Given the description of an element on the screen output the (x, y) to click on. 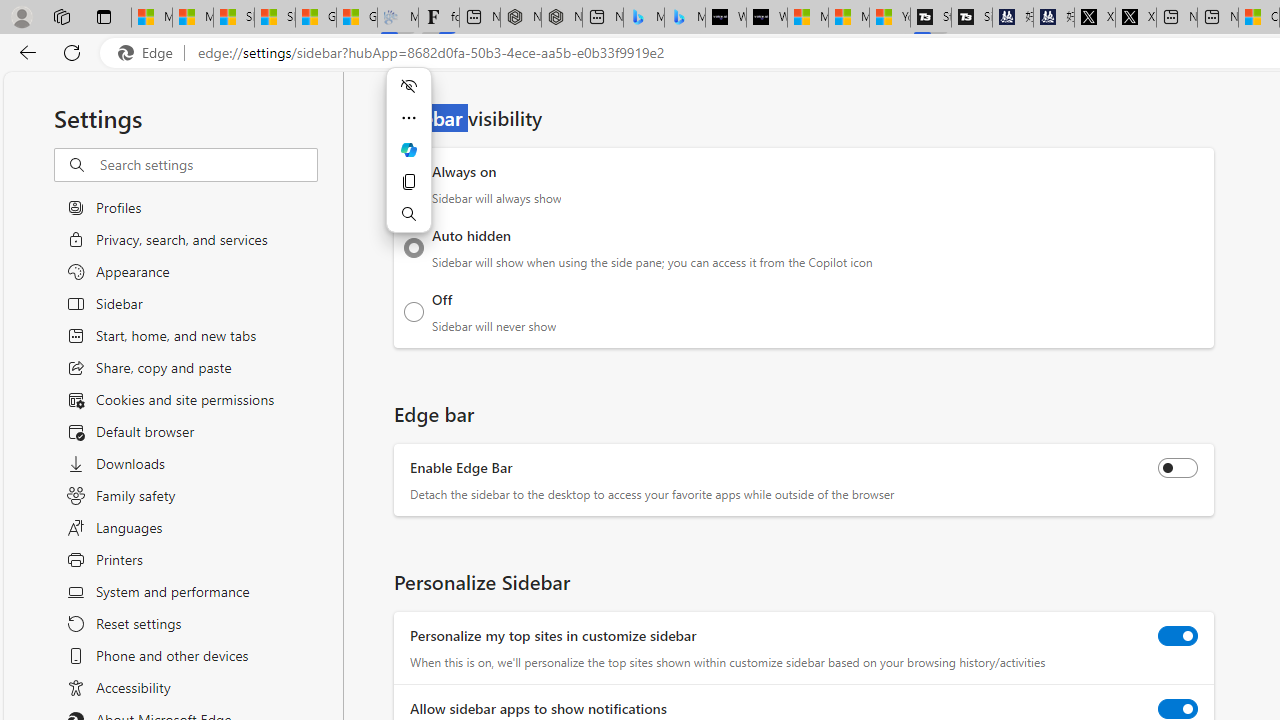
Allow sidebar apps to show notifications (1178, 709)
Always on Sidebar will always show (413, 183)
Microsoft Bing Travel - Stays in Bangkok, Bangkok, Thailand (643, 17)
More actions (408, 117)
Ask Copilot (408, 149)
Hide menu (408, 85)
